Given the description of an element on the screen output the (x, y) to click on. 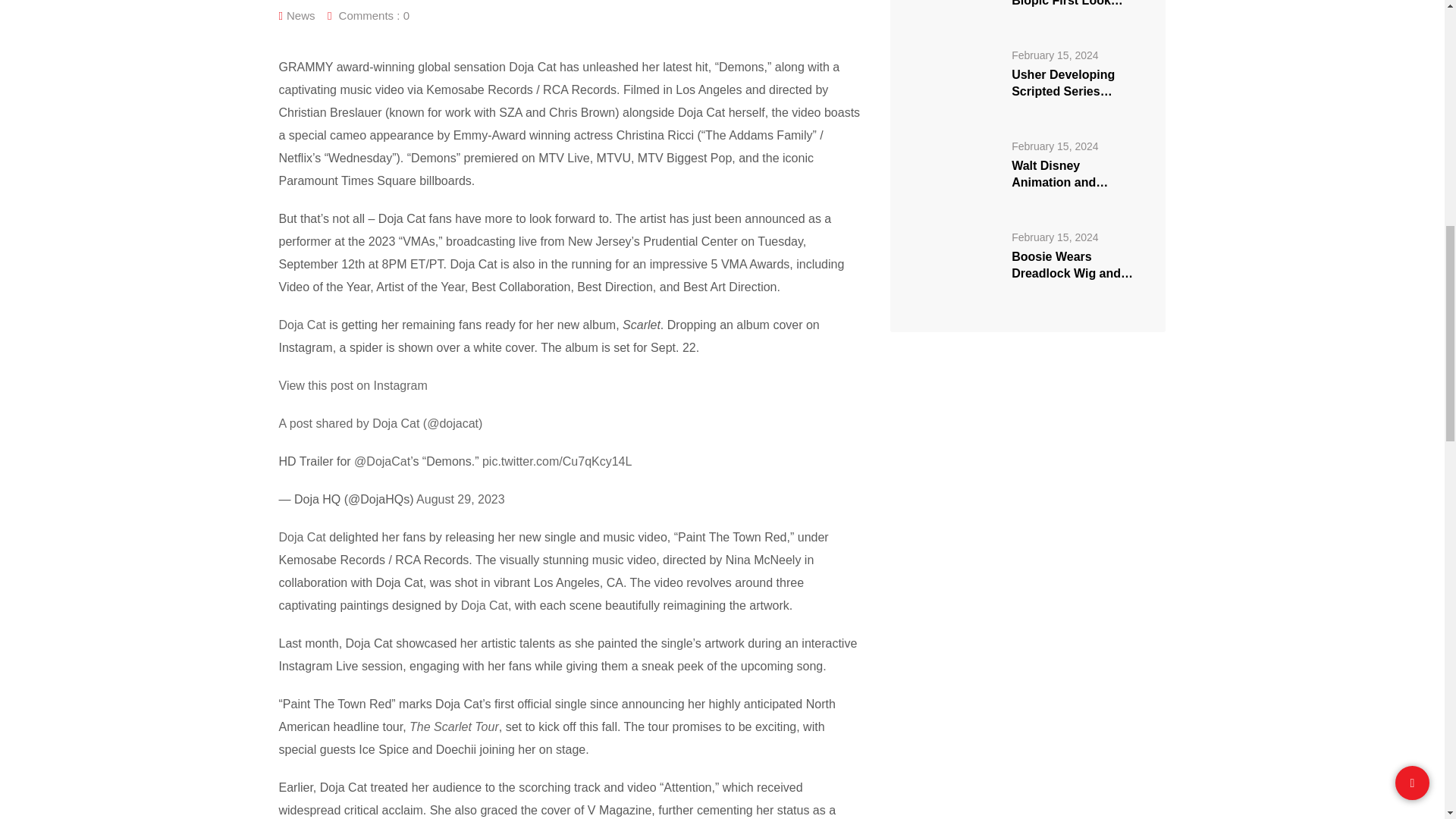
August 29, 2023 (460, 499)
View this post on Instagram (569, 385)
Doja Cat (302, 536)
The Scarlet Tour (454, 726)
Doja Cat (302, 324)
News (300, 15)
Boosie Wears Dreadlock Wig and Rasta Hat to Bob Marley Movie (957, 264)
Doja Cat (484, 604)
